Given the description of an element on the screen output the (x, y) to click on. 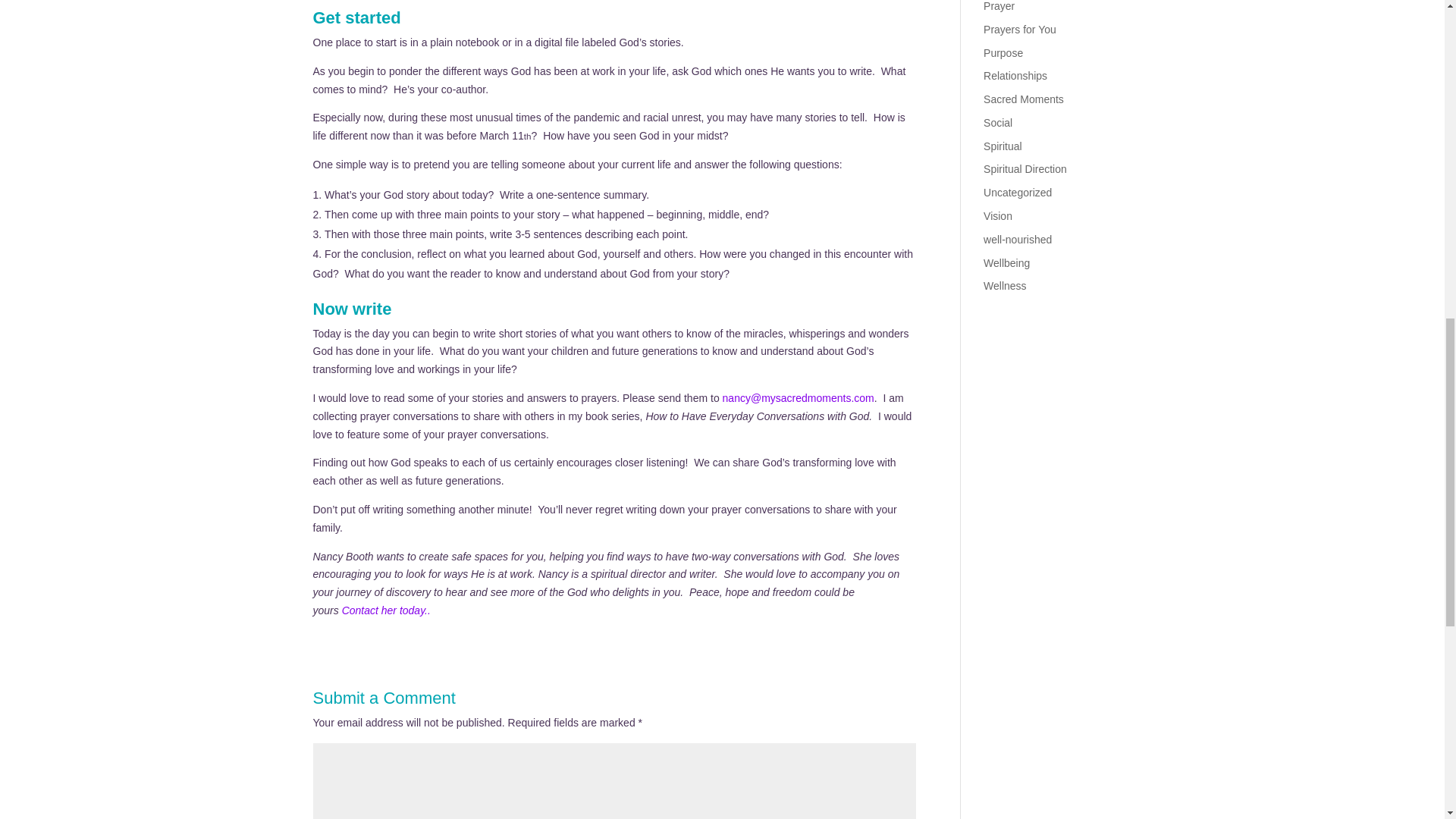
Wellbeing (1006, 263)
well-nourished (1017, 239)
Spiritual Direction (1025, 168)
Spiritual (1003, 146)
Prayers for You (1020, 29)
Contact her today.. (386, 610)
Prayer (999, 6)
Uncategorized (1017, 192)
Vision (997, 215)
Relationships (1015, 75)
Social (997, 122)
Sacred Moments (1024, 99)
Purpose (1003, 52)
